Given the description of an element on the screen output the (x, y) to click on. 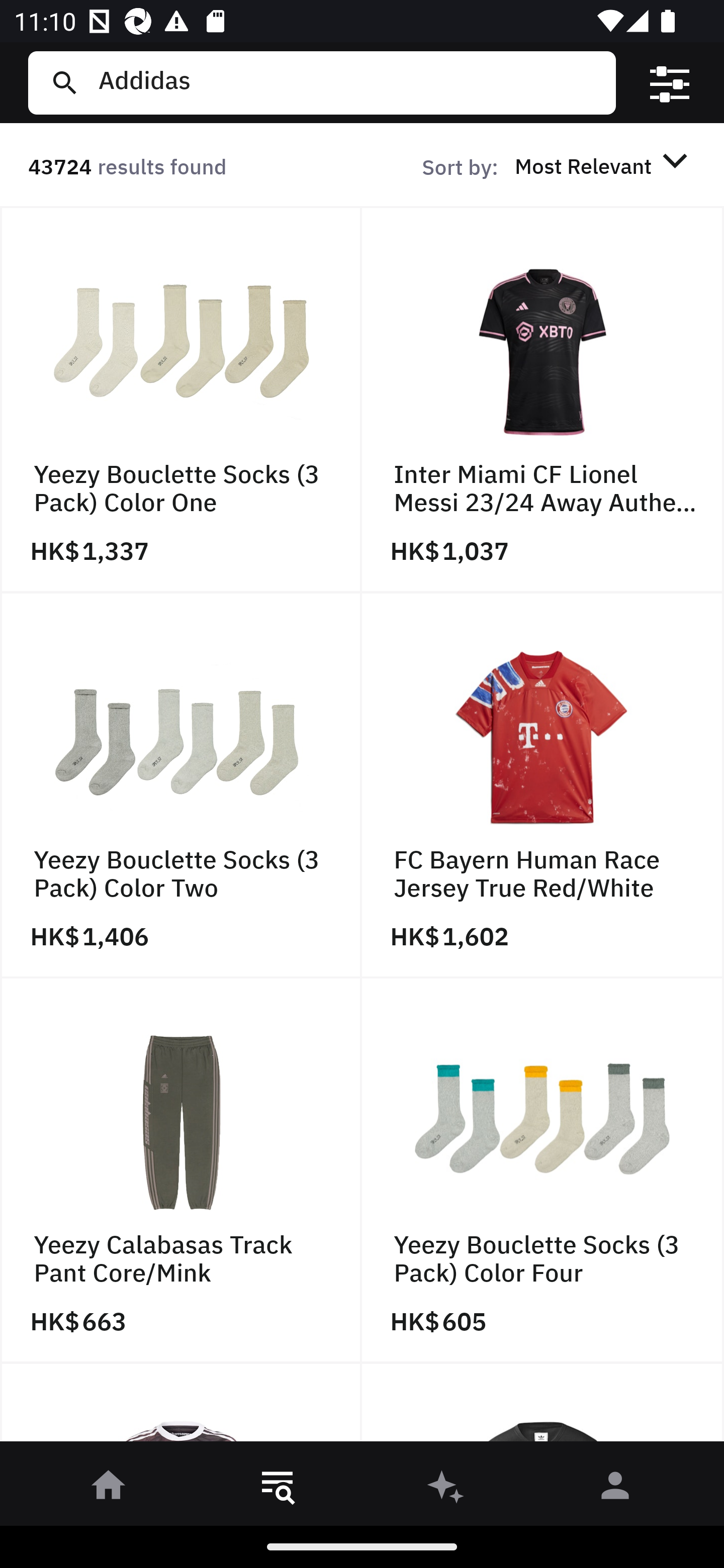
Addidas (349, 82)
 (669, 82)
Most Relevant  (604, 165)
Yeezy Bouclette Socks (3 Pack) Color One HK$ 1,337 (181, 399)
Yeezy Bouclette Socks (3 Pack) Color Two HK$ 1,406 (181, 785)
Yeezy Calabasas Track Pant Core/Mink HK$ 663 (181, 1171)
Yeezy Bouclette Socks (3 Pack) Color Four HK$ 605 (543, 1171)
󰋜 (108, 1488)
󱎸 (277, 1488)
󰫢 (446, 1488)
󰀄 (615, 1488)
